Given the description of an element on the screen output the (x, y) to click on. 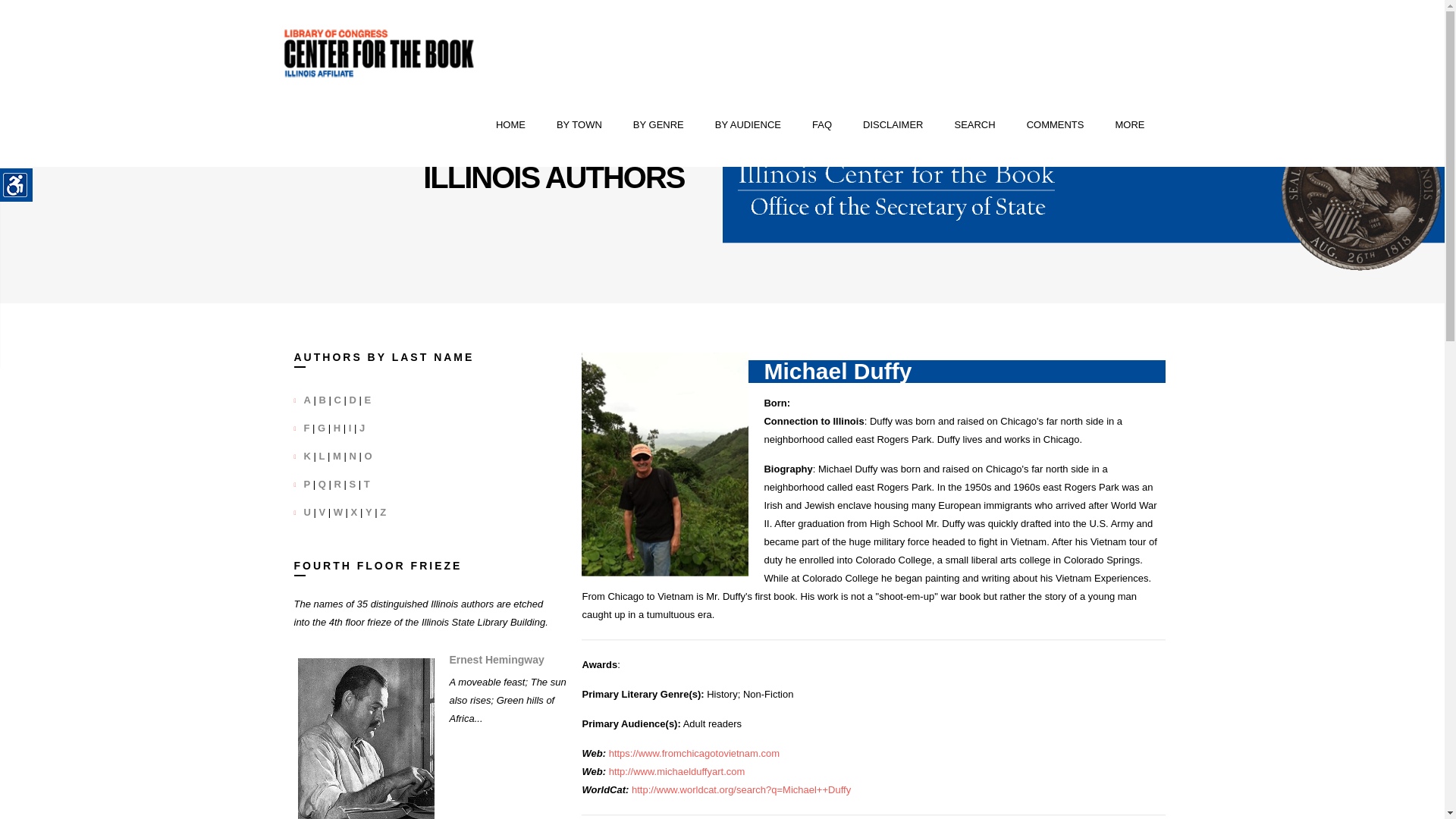
DISCLAIMER (893, 125)
Illinois authors, arranged by audience (747, 125)
BY AUDIENCE (747, 125)
A disclaimer from the Illinois Secretary of State (893, 125)
COMMENTS (1055, 125)
Link to the Library of Congress's Center for the Book (379, 52)
